Given the description of an element on the screen output the (x, y) to click on. 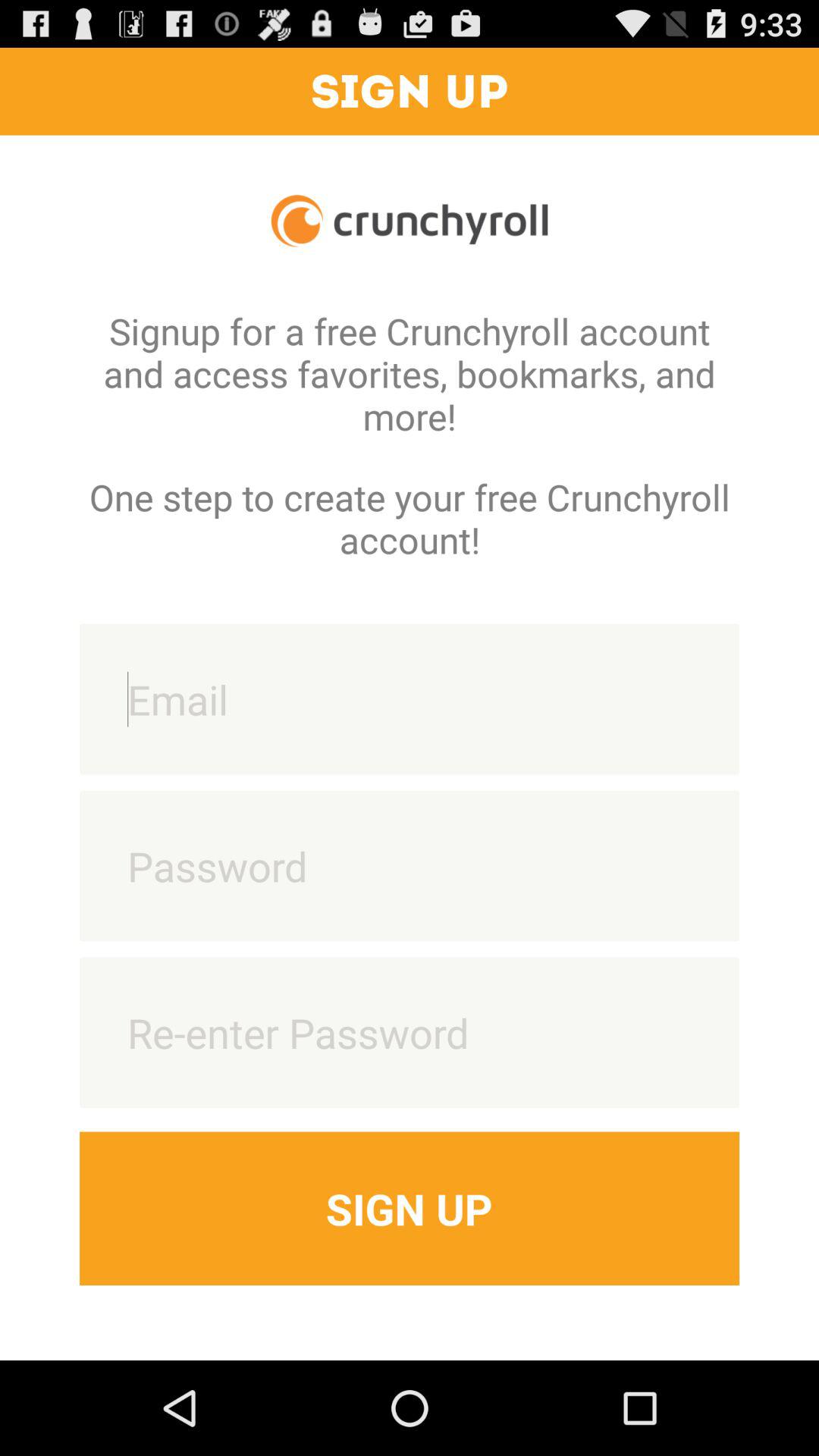
enter your new password to confirm in this box (409, 1032)
